Given the description of an element on the screen output the (x, y) to click on. 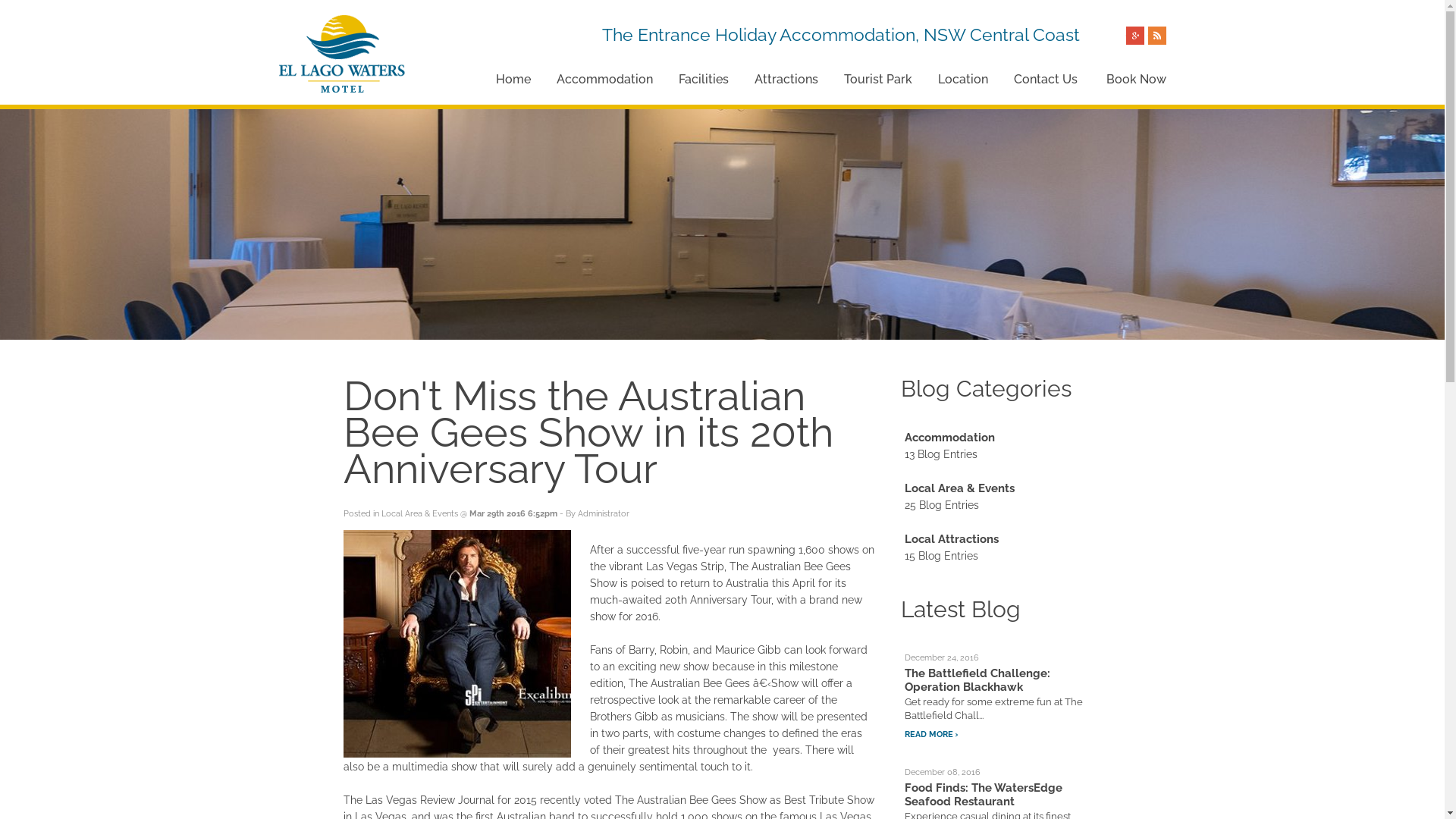
Food Finds: The WatersEdge Seafood Restaurant Element type: text (982, 794)
Contact Us Element type: text (1044, 79)
READ MORE Element type: text (930, 734)
Book Now Element type: text (1135, 79)
The Australian Bee Gees Show Element type: hover (456, 643)
Tourist Park Element type: text (877, 79)
Accommodation Element type: text (604, 79)
Location Element type: text (962, 79)
Accommodation Element type: text (948, 437)
The Battlefield Challenge: Operation Blackhawk Element type: text (976, 679)
Home Element type: text (512, 79)
Local Area & Events Element type: text (418, 513)
Local Area & Events Element type: text (958, 488)
Attractions Element type: text (785, 79)
Local Attractions Element type: text (950, 539)
Facilities Element type: text (702, 79)
